Given the description of an element on the screen output the (x, y) to click on. 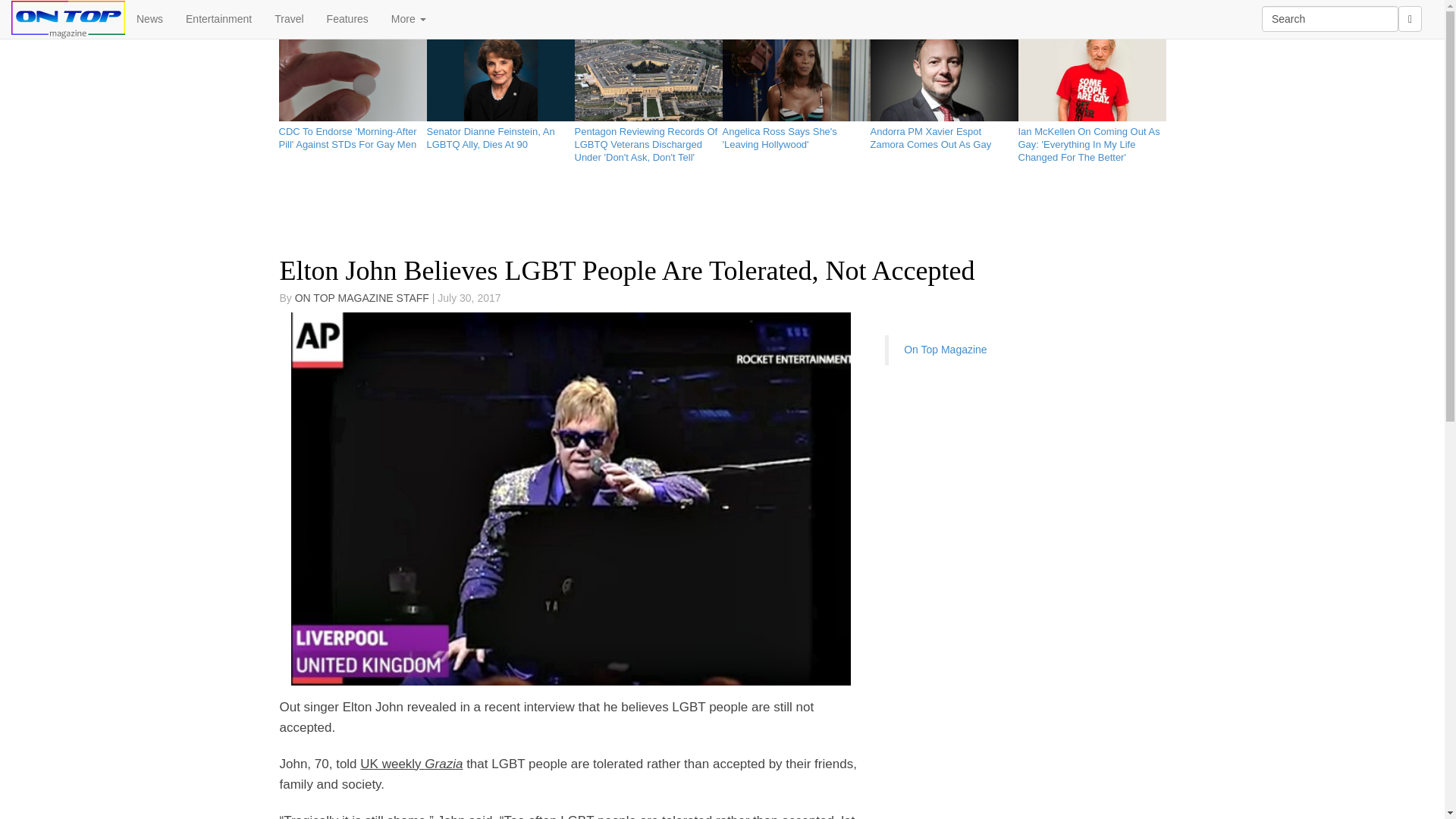
Angelica Ross Says She's 'Leaving Hollywood' (795, 135)
Travel (288, 18)
News (149, 18)
CDC To Endorse 'Morning-After Pill' Against STDs For Gay Men (352, 135)
Features (347, 18)
More (409, 18)
Andorra PM Xavier Espot Zamora Comes Out As Gay (943, 135)
Entertainment (218, 18)
Search (1329, 18)
Search by keyword (1329, 18)
Senator Dianne Feinstein, An LGBTQ Ally, Dies At 90 (499, 135)
